Given the description of an element on the screen output the (x, y) to click on. 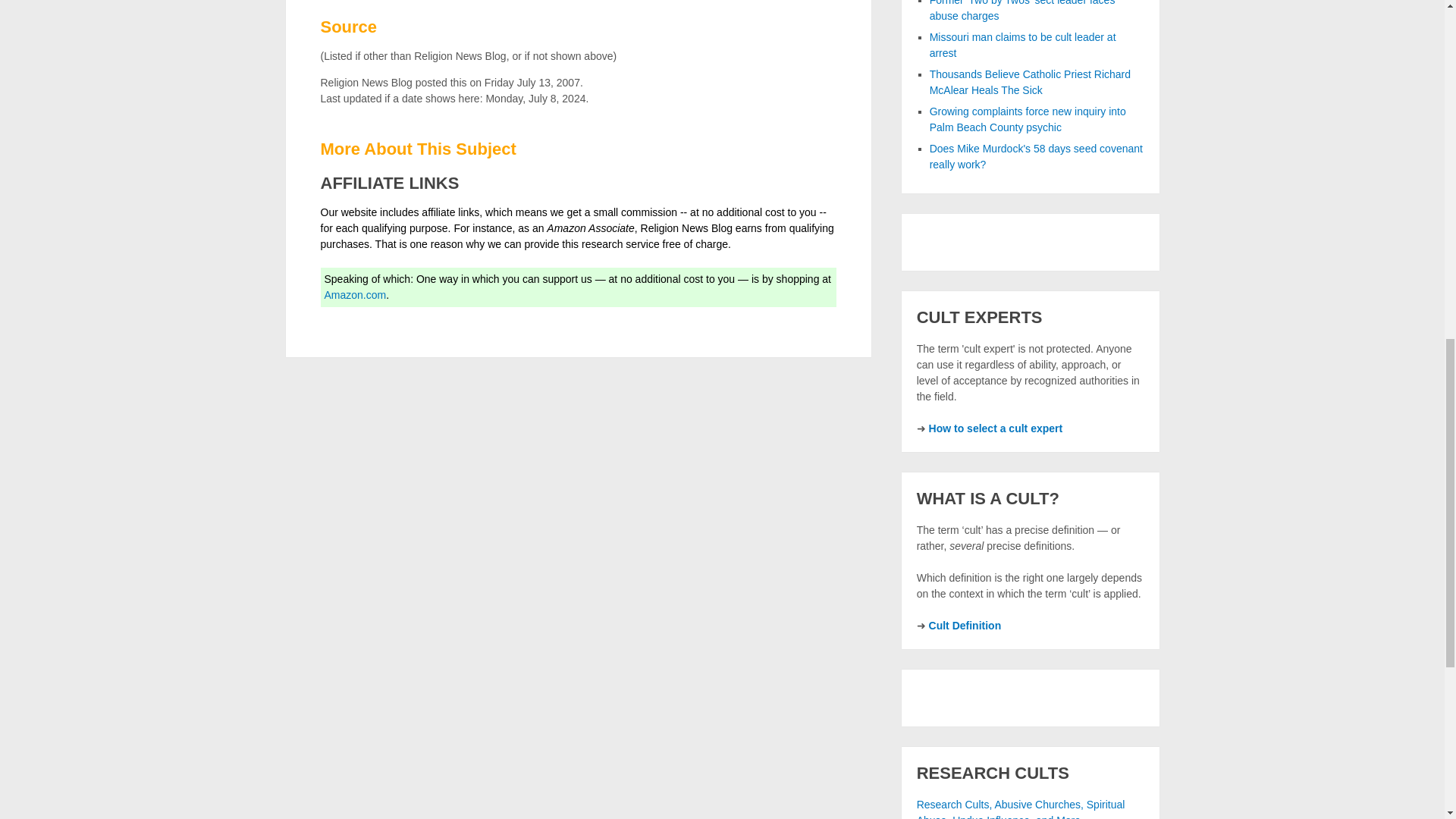
Amazon.com (355, 295)
Cult Definition (964, 625)
Former 'Two by Twos' sect leader faces abuse charges (1022, 11)
Missouri man claims to be cult leader at arrest (1023, 44)
Does Mike Murdock's 58 days seed covenant really work? (1036, 156)
How to select a cult expert (995, 428)
